Given the description of an element on the screen output the (x, y) to click on. 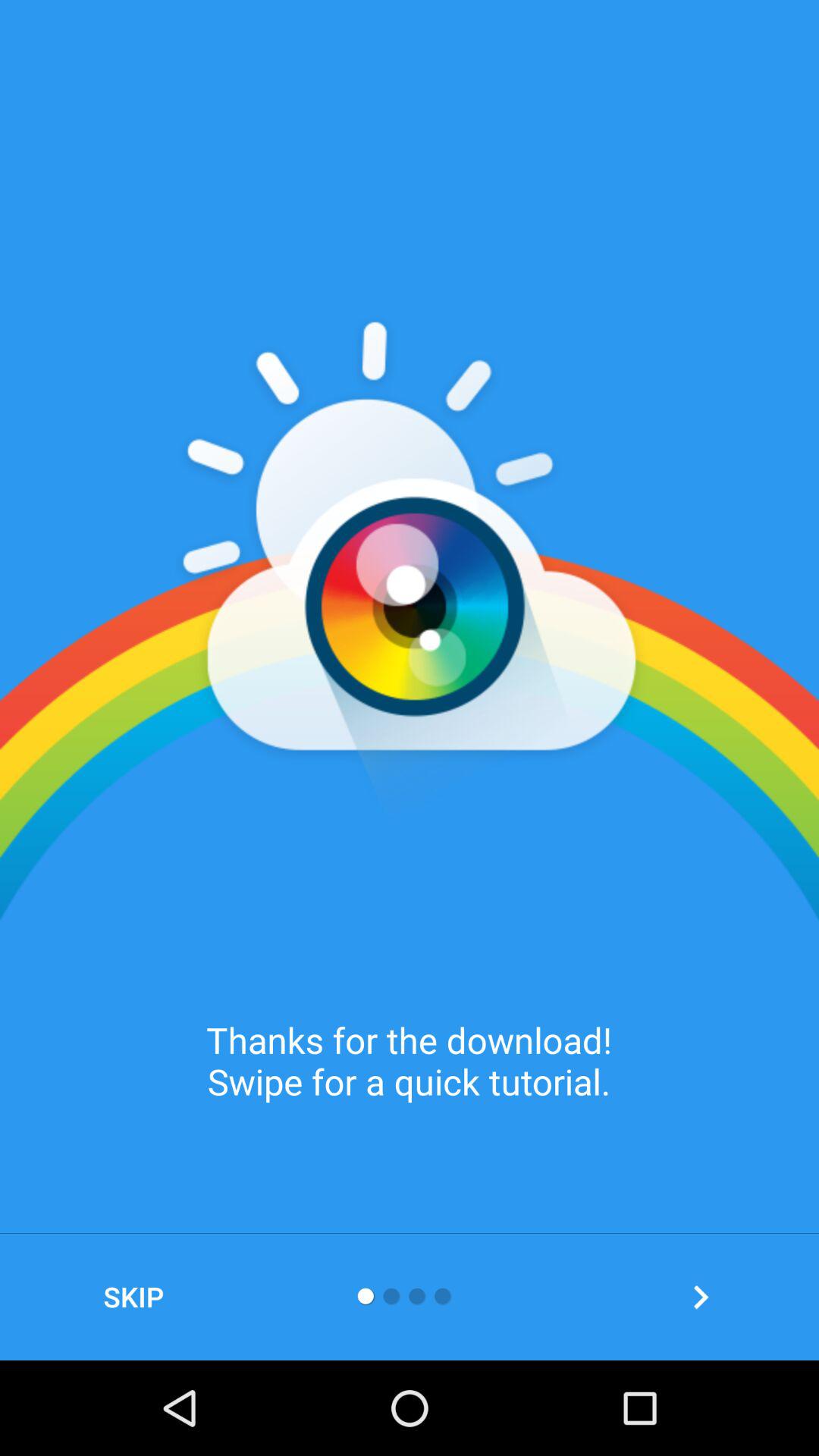
swipe to continue tutorial (700, 1296)
